Given the description of an element on the screen output the (x, y) to click on. 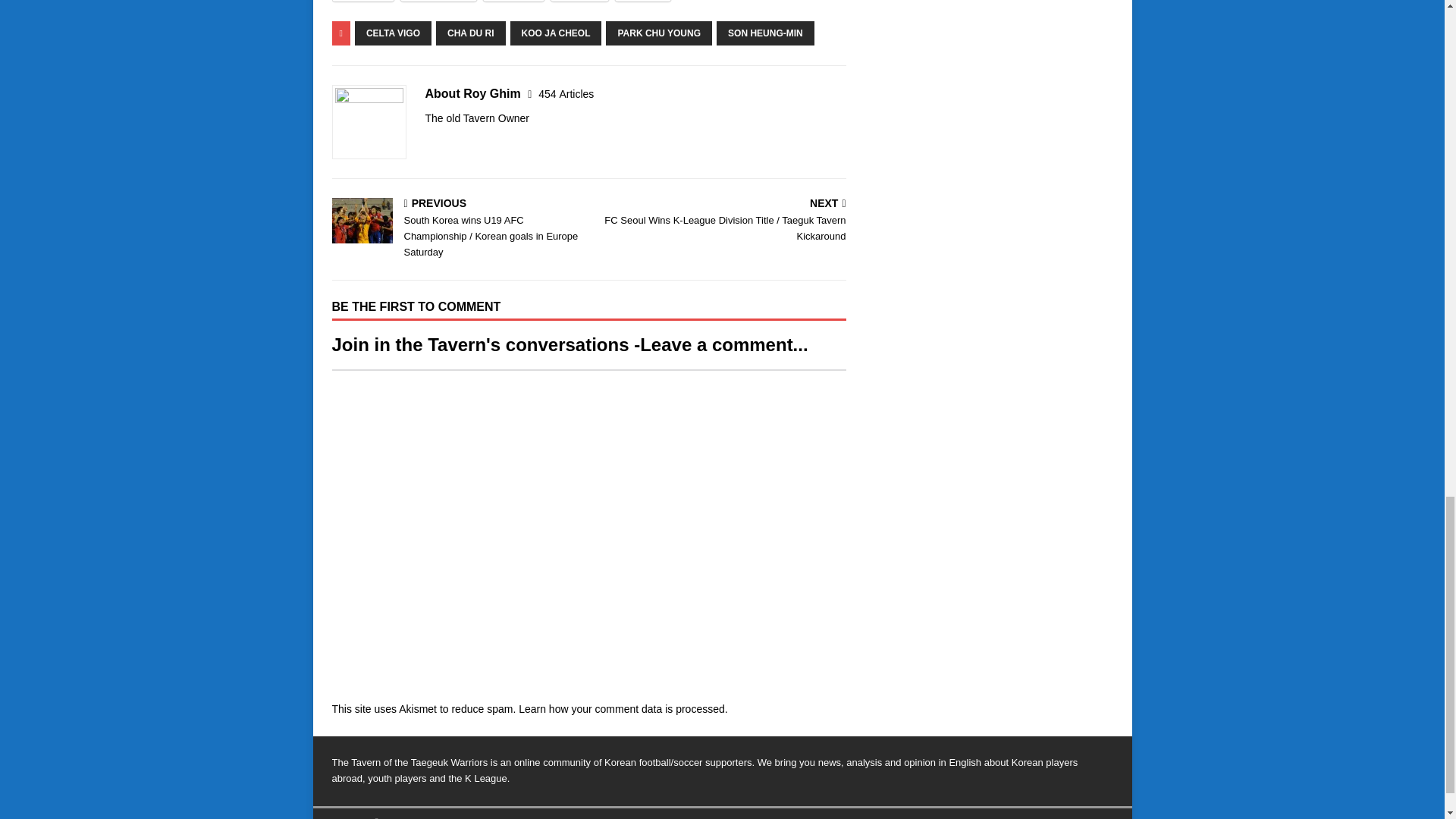
Click to email a link to a friend (579, 0)
More articles written by Roy Ghim' (566, 93)
Click to share on Twitter (362, 0)
Reddit (513, 0)
Facebook (438, 0)
Click to share on Reddit (513, 0)
Twitter (362, 0)
Click to share on Facebook (438, 0)
